Given the description of an element on the screen output the (x, y) to click on. 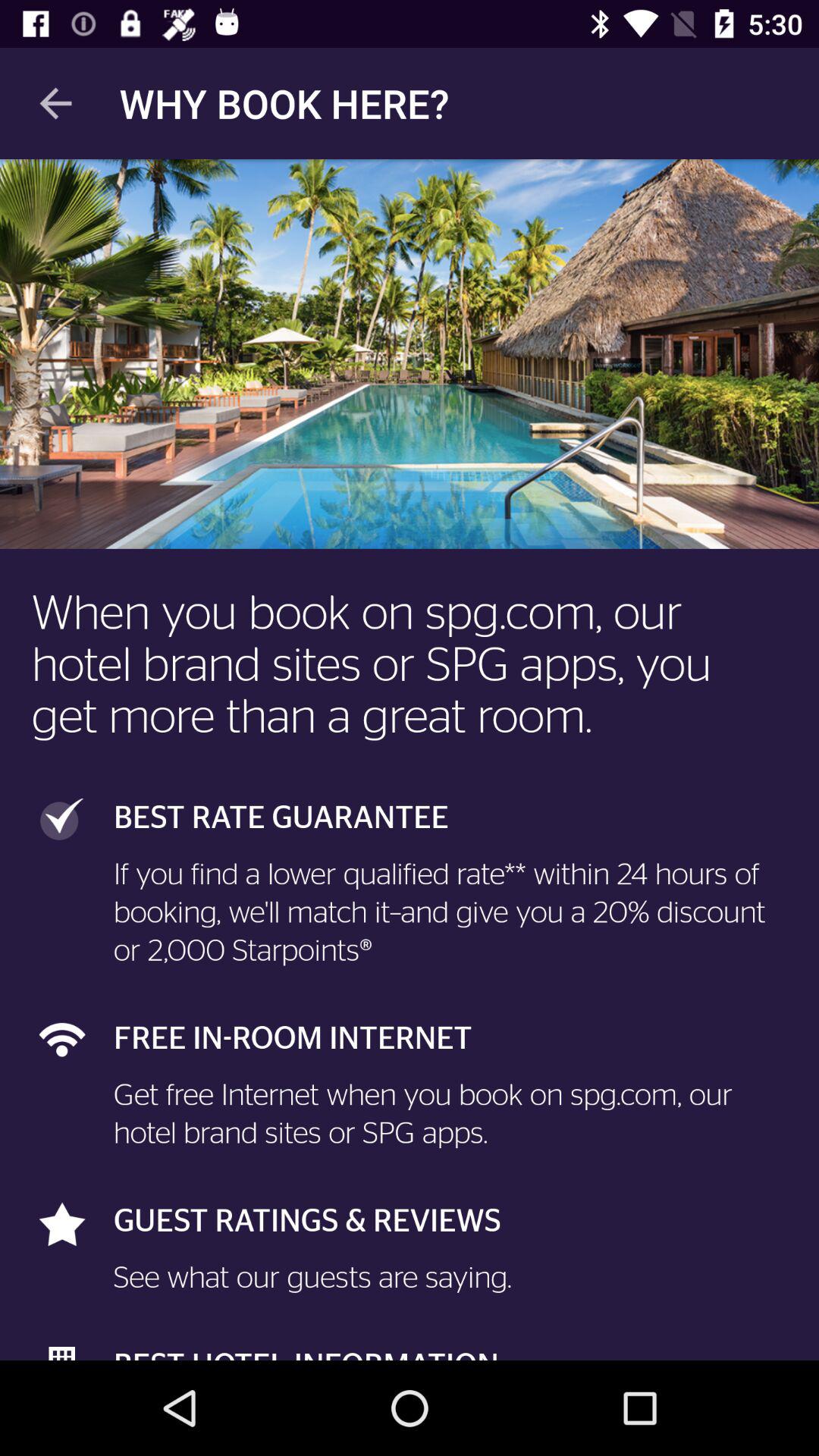
tap icon at the top left corner (55, 103)
